Given the description of an element on the screen output the (x, y) to click on. 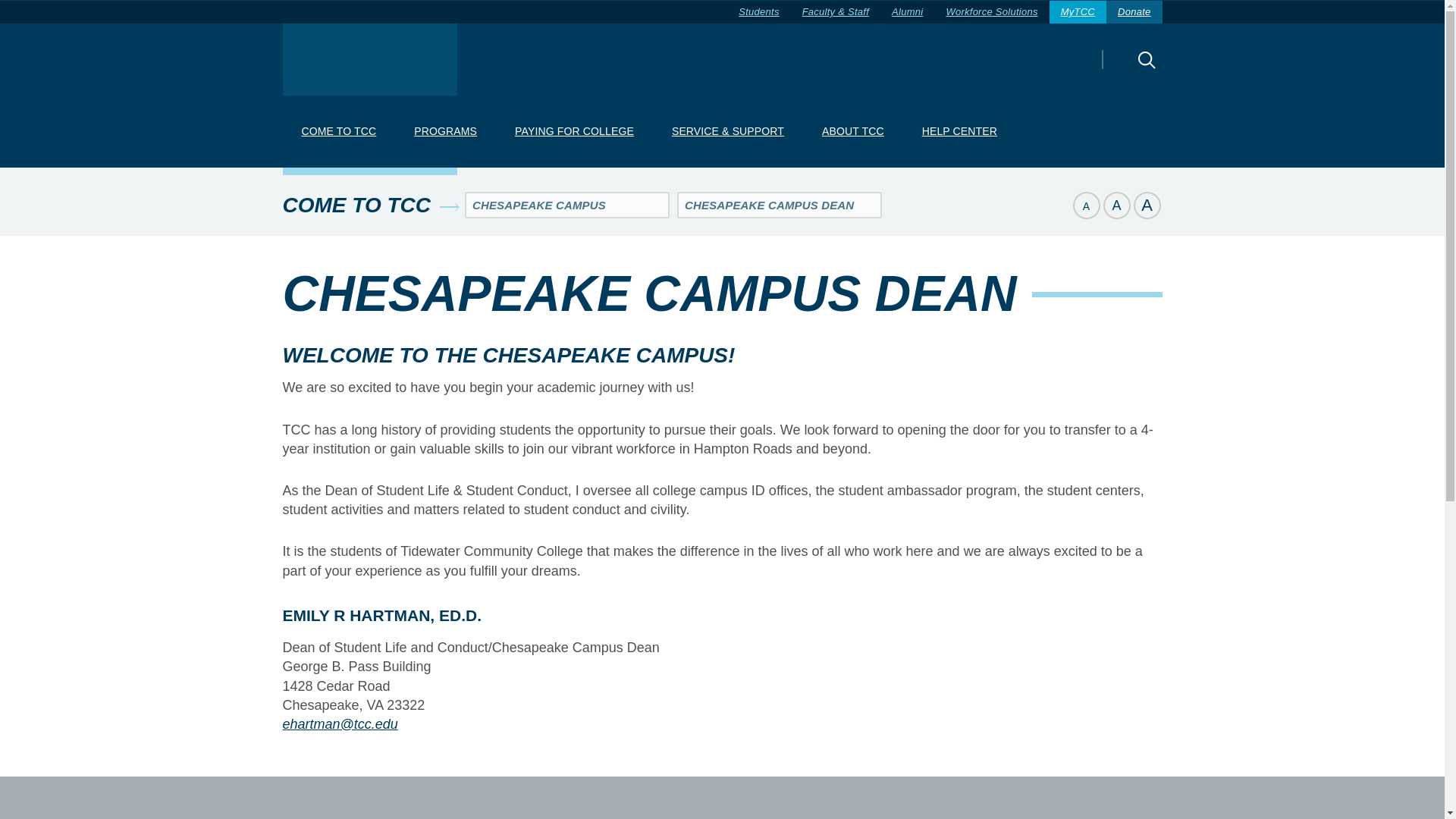
Workforce Solutions (991, 11)
MyTCC (1077, 11)
PROGRAMS (445, 131)
Set page copy to small size (1085, 205)
Search (1119, 70)
Set page copy to large size (1146, 205)
Tidewater Community College (369, 59)
Alumni (907, 11)
Set page copy to normal size (1115, 205)
Donate (1133, 11)
COME TO TCC (338, 131)
Students (758, 11)
